Given the description of an element on the screen output the (x, y) to click on. 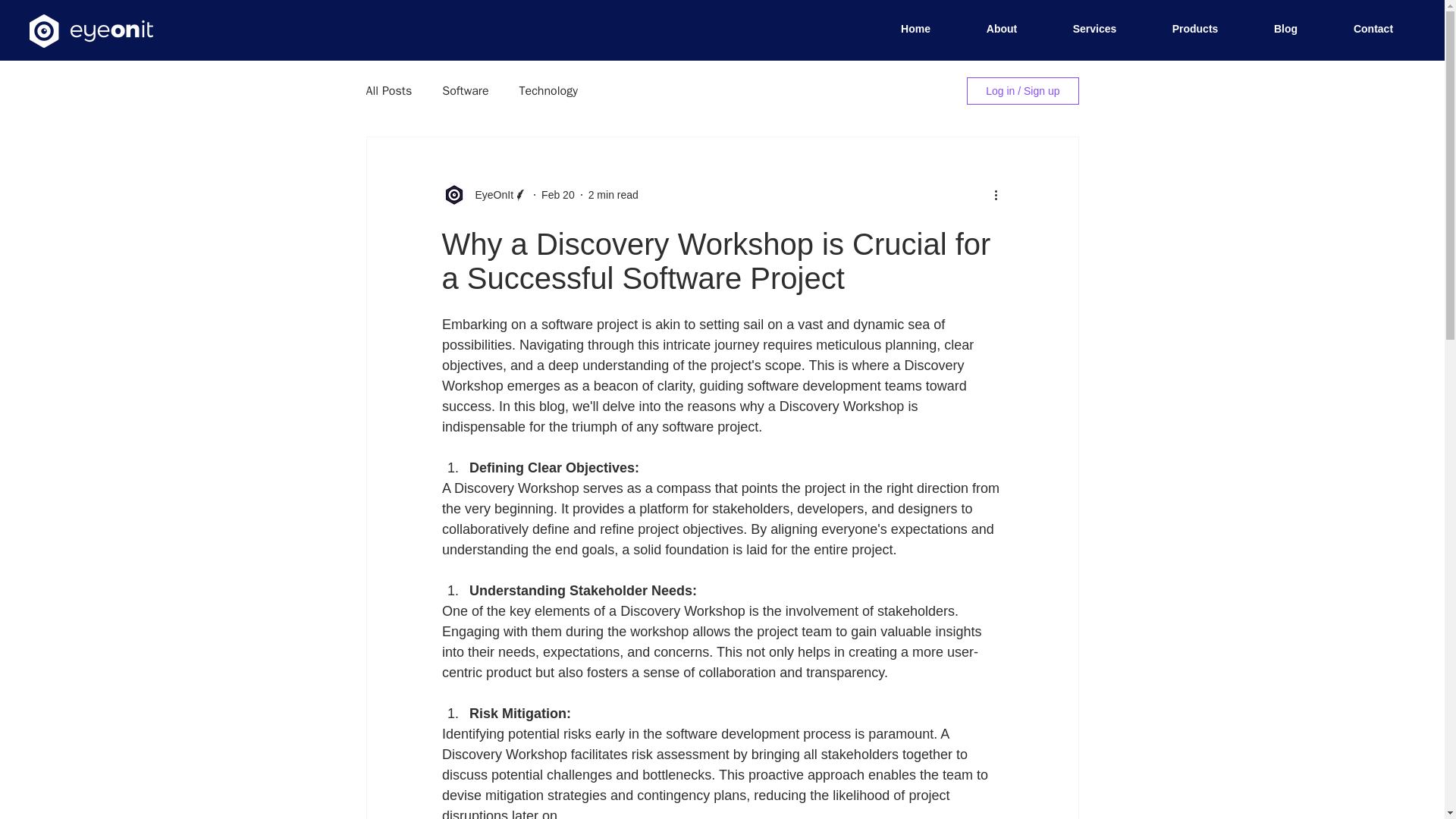
Contact (1372, 28)
Services (1094, 28)
Feb 20 (558, 193)
Technology (548, 91)
About (1001, 28)
2 min read (613, 193)
Home (915, 28)
Software (464, 91)
Products (1195, 28)
All Posts (388, 91)
